Given the description of an element on the screen output the (x, y) to click on. 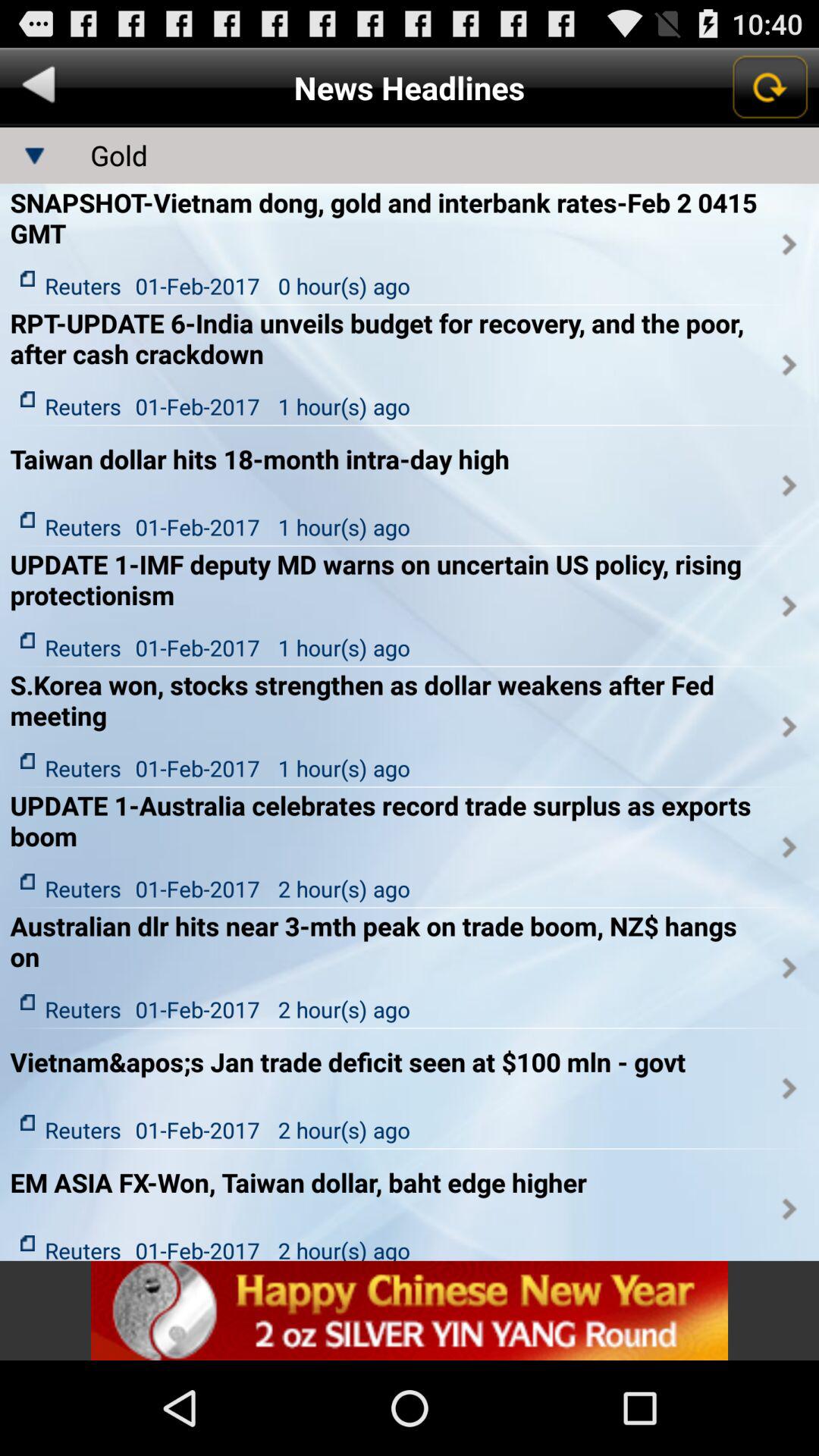
go back (39, 87)
